Given the description of an element on the screen output the (x, y) to click on. 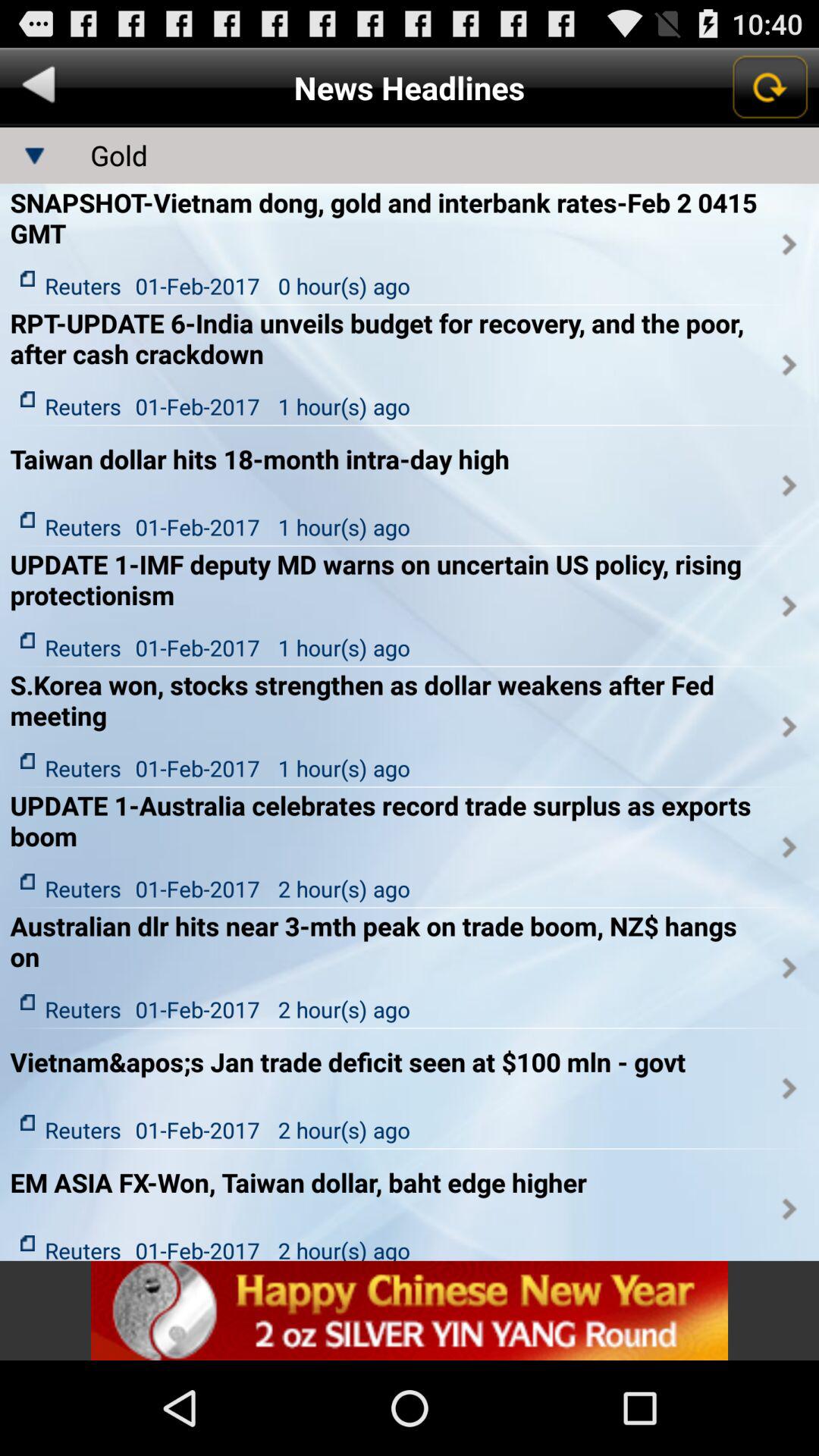
go back (39, 87)
